Given the description of an element on the screen output the (x, y) to click on. 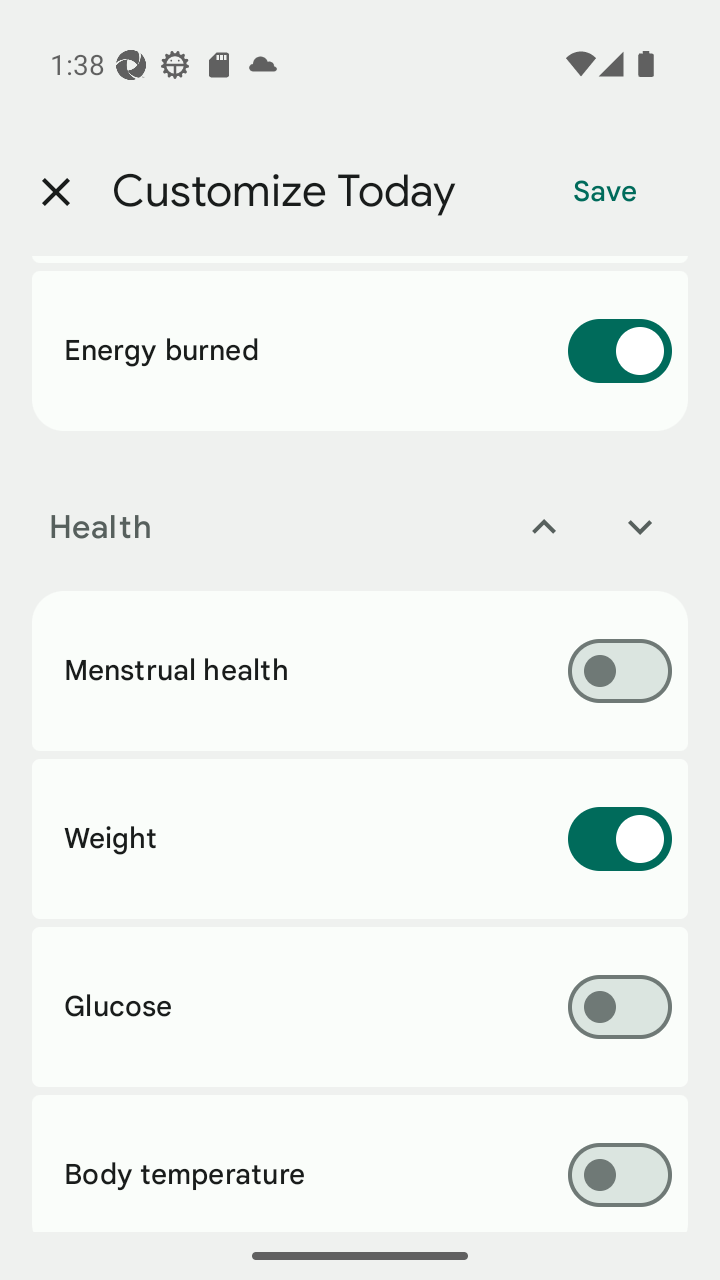
Close (55, 191)
Save (605, 191)
Energy burned (359, 351)
Move Health up (543, 526)
Move Health down (639, 526)
Menstrual health (359, 671)
Weight (359, 839)
Glucose (359, 1006)
Body temperature (359, 1162)
